Given the description of an element on the screen output the (x, y) to click on. 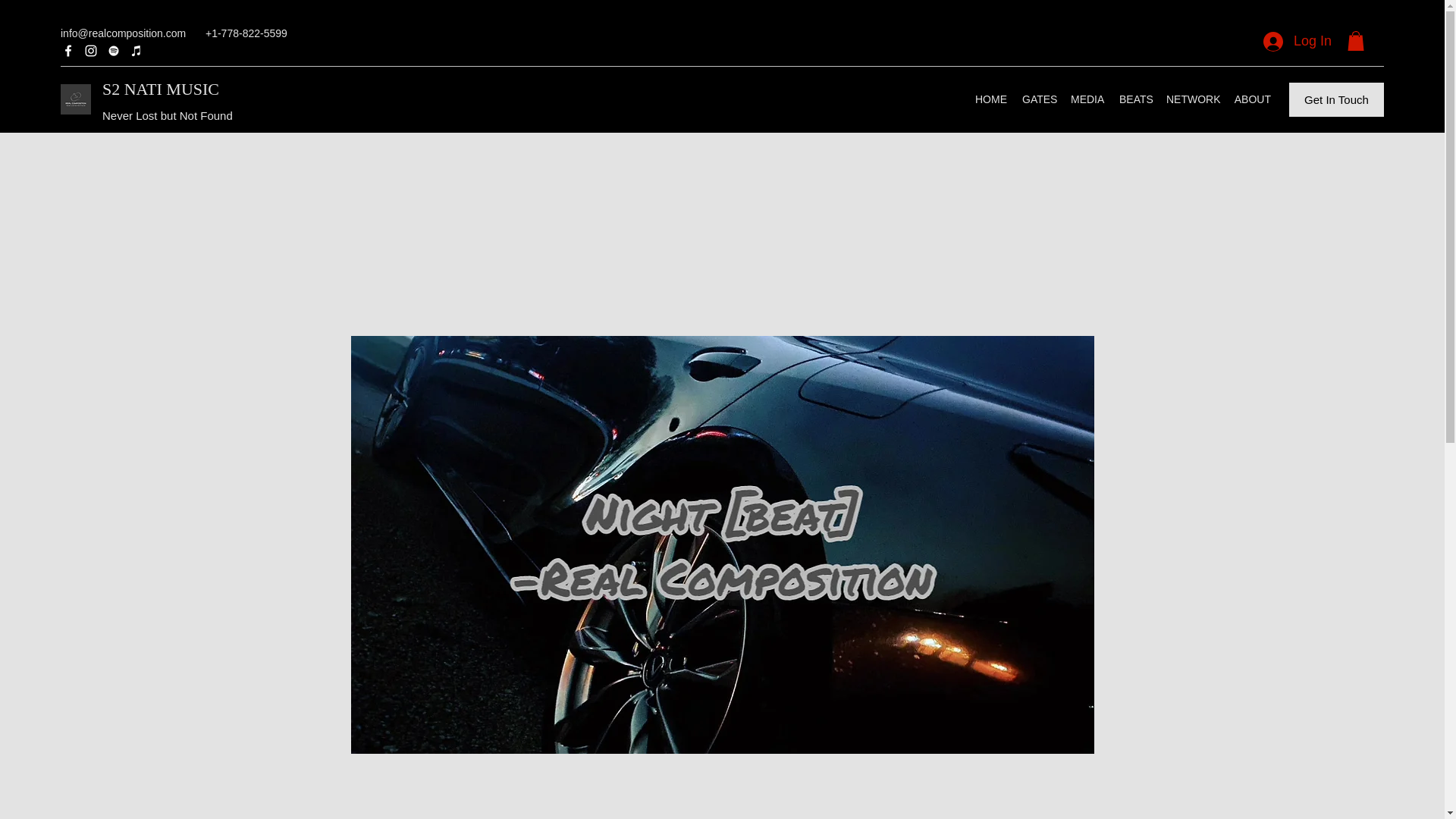
MEDIA (1087, 98)
Log In (1297, 41)
NETWORK (1191, 98)
GATES (1038, 98)
HOME (991, 98)
ABOUT (1251, 98)
BEATS (1135, 98)
